Given the description of an element on the screen output the (x, y) to click on. 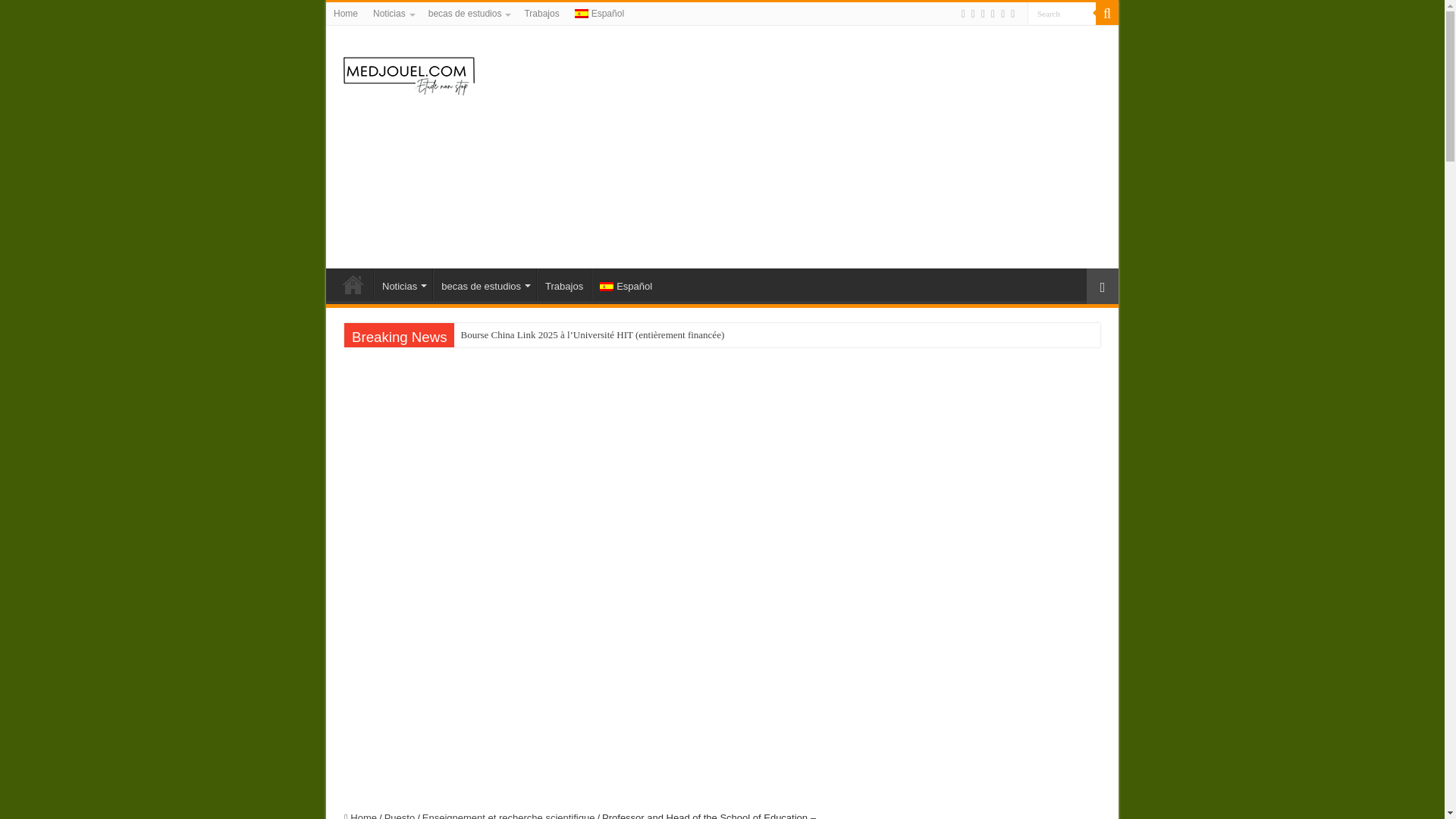
Search (1061, 13)
Search (1061, 13)
Search (1061, 13)
